Given the description of an element on the screen output the (x, y) to click on. 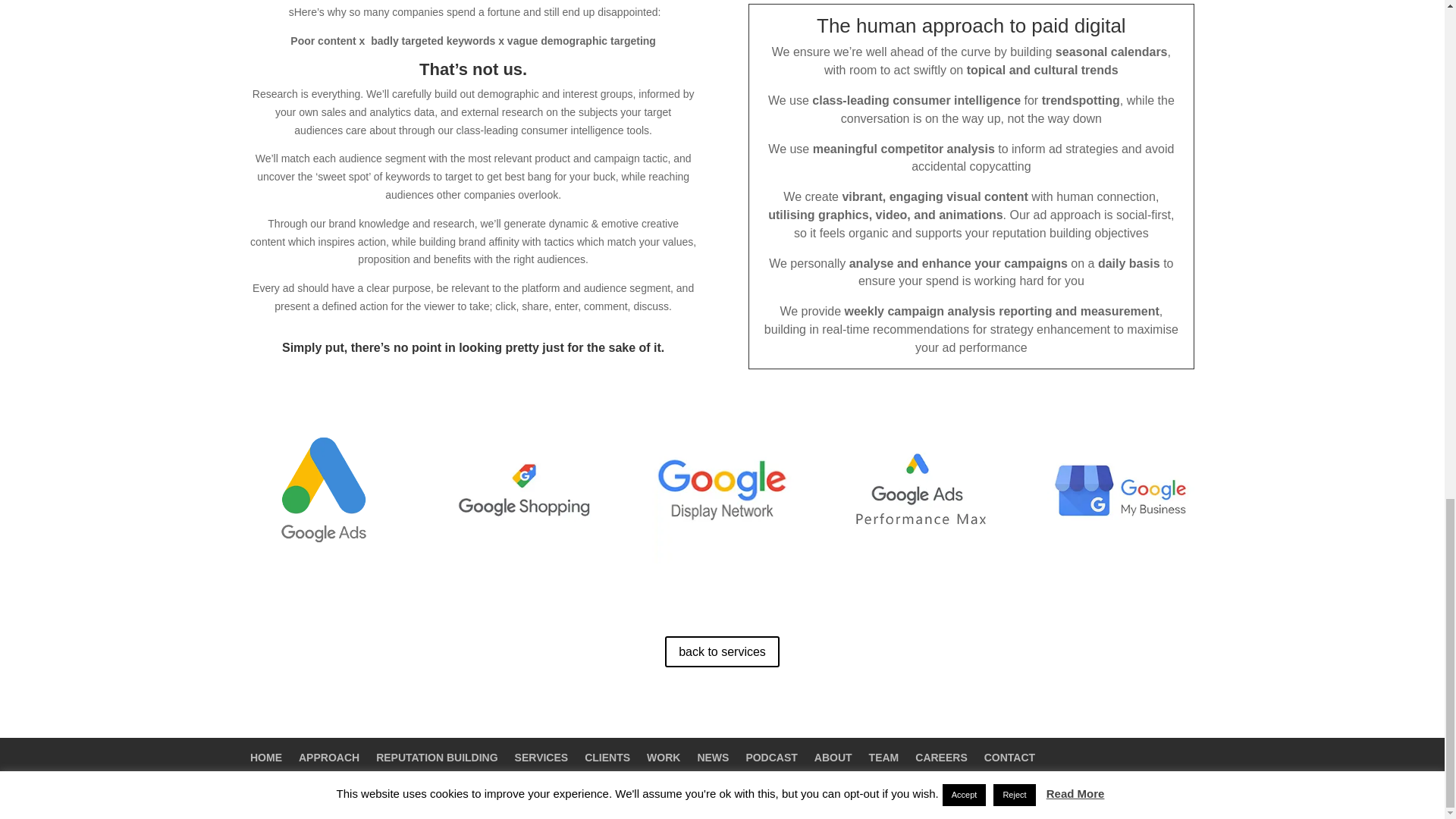
logo-google-display-network-china-min (720, 489)
google ads performance max NEW (920, 489)
back to services (721, 651)
TEAM (884, 757)
CLIENTS (607, 757)
Website Terms And Conditions (449, 798)
CAREERS (940, 757)
google shopping logo (522, 489)
SERVICES (542, 757)
NEWS (713, 757)
